Given the description of an element on the screen output the (x, y) to click on. 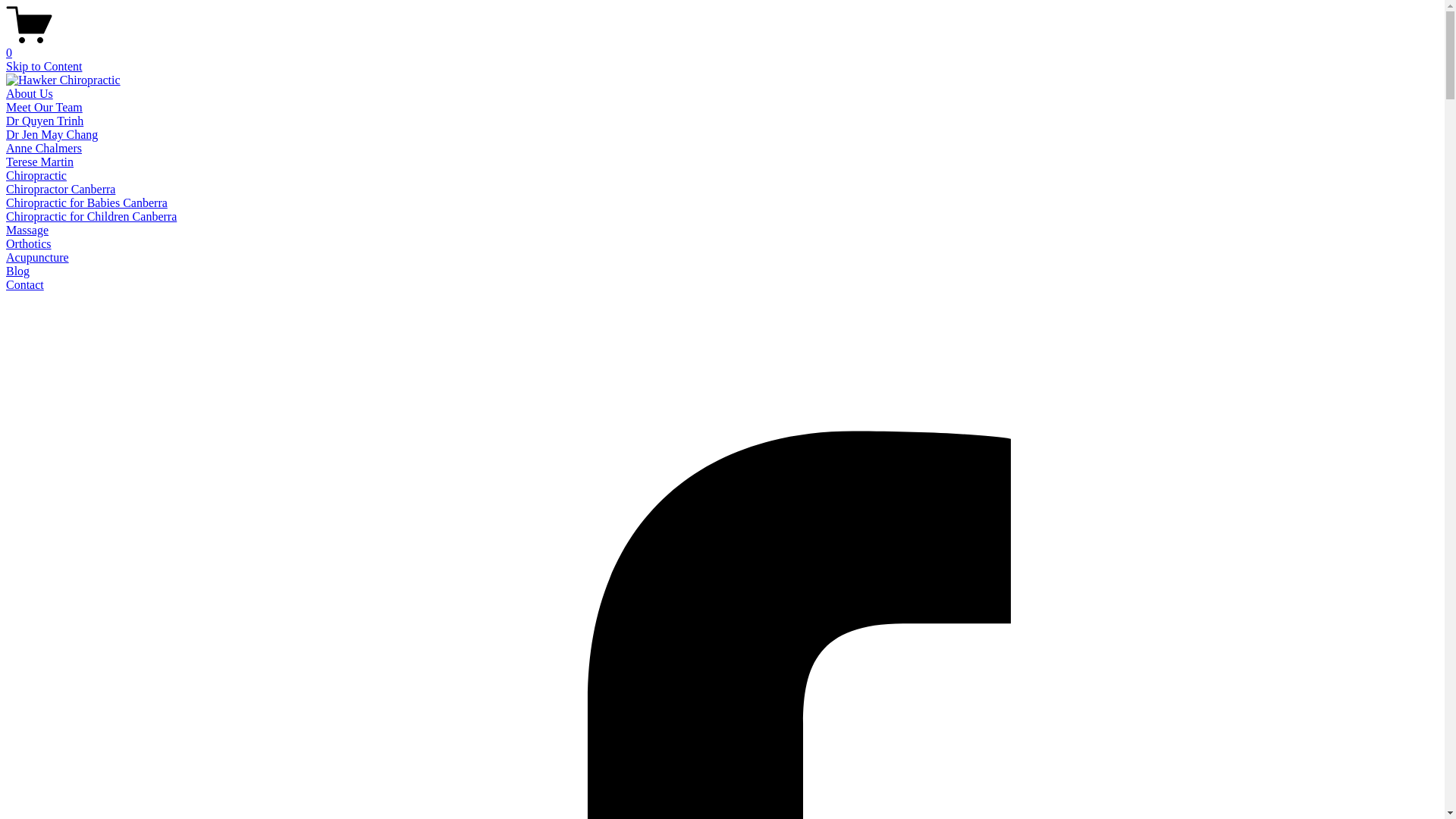
Terese Martin Element type: text (39, 161)
Chiropractic Element type: text (36, 175)
About Us Element type: text (29, 93)
Chiropractor Canberra Element type: text (60, 188)
Skip to Content Element type: text (43, 65)
Contact Element type: text (24, 284)
Dr Jen May Chang Element type: text (51, 134)
0 Element type: text (722, 45)
Dr Quyen Trinh Element type: text (44, 120)
Chiropractic for Babies Canberra Element type: text (86, 202)
Massage Element type: text (27, 229)
Blog Element type: text (17, 270)
Meet Our Team Element type: text (44, 106)
Acupuncture Element type: text (37, 257)
Anne Chalmers Element type: text (43, 147)
Chiropractic for Children Canberra Element type: text (91, 216)
Orthotics Element type: text (28, 243)
